Given the description of an element on the screen output the (x, y) to click on. 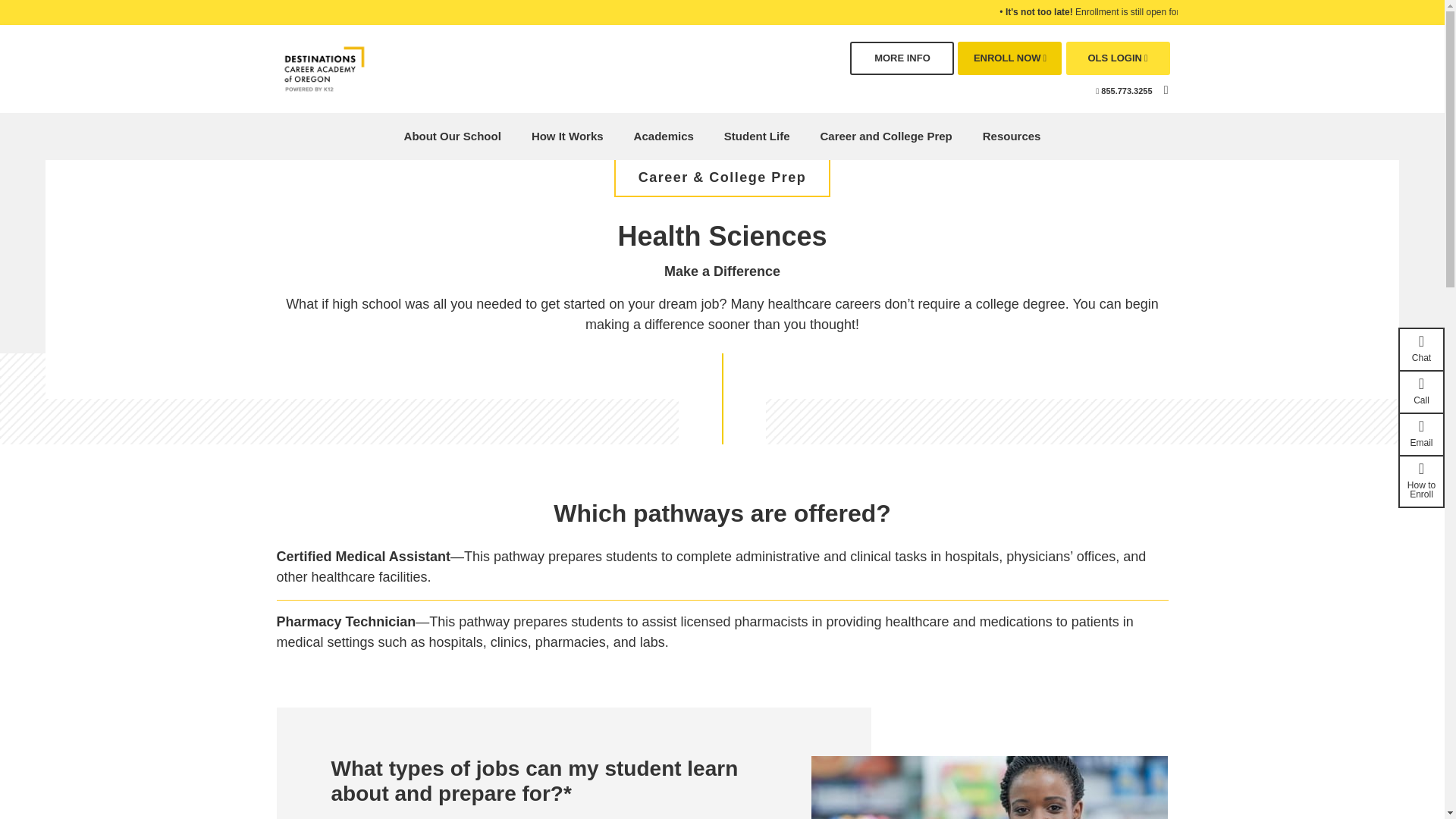
Lead Form Modal (901, 58)
Academics (663, 136)
Student Life (756, 136)
MORE INFO (901, 58)
How It Works (567, 136)
About Our School (452, 136)
Career and College Prep (886, 136)
OLS LOGIN (1117, 58)
OLS LOGIN (1117, 58)
Destinations Career Academy of Oregon (323, 68)
ENROLL NOW (1009, 58)
